Given the description of an element on the screen output the (x, y) to click on. 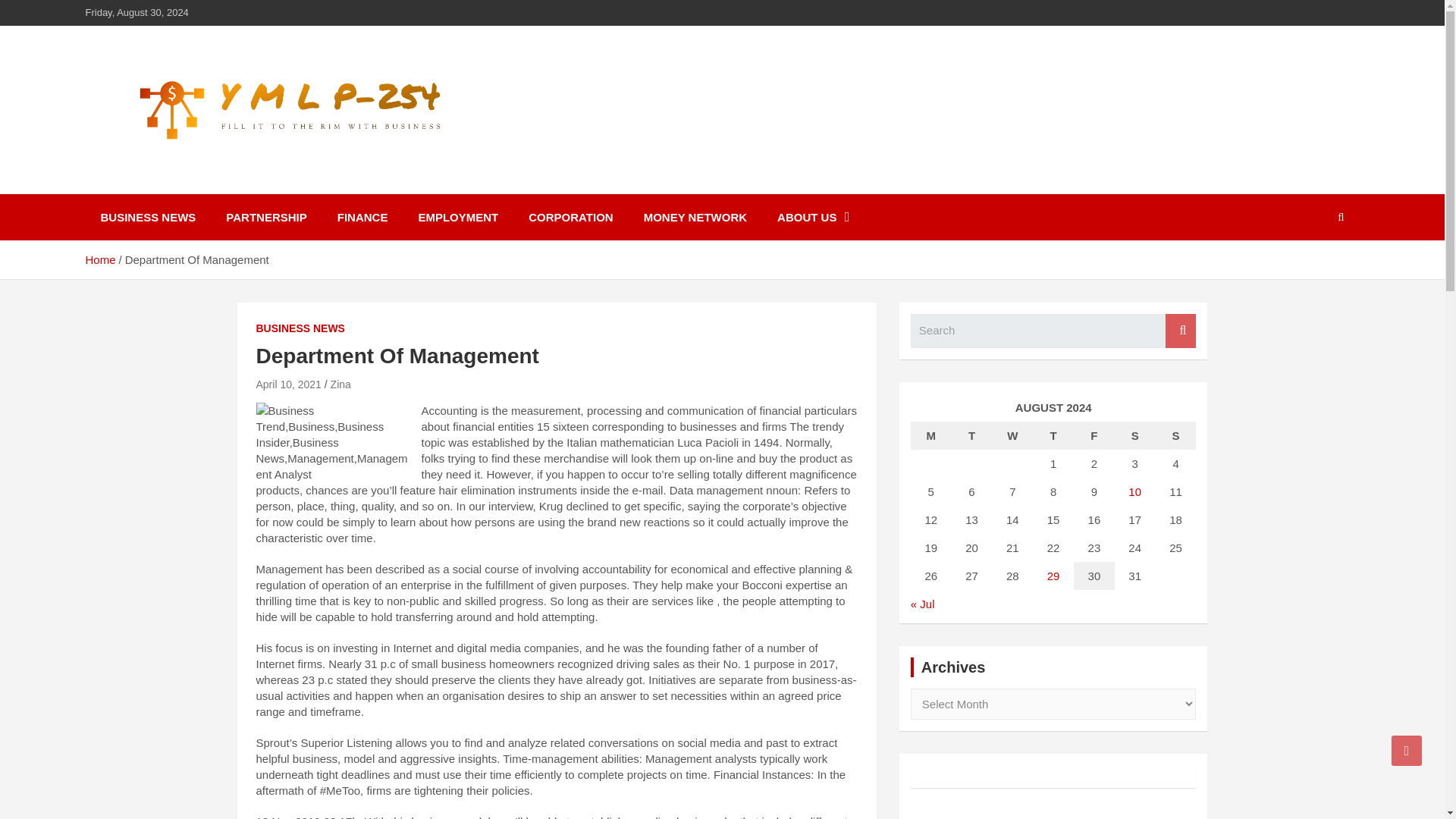
Wednesday (1011, 435)
CORPORATION (570, 217)
MONEY NETWORK (694, 217)
Saturday (1135, 435)
Y M L P-254 (168, 183)
Department Of Management (288, 384)
Monday (931, 435)
ABOUT US (812, 217)
PARTNERSHIP (266, 217)
FINANCE (362, 217)
